Given the description of an element on the screen output the (x, y) to click on. 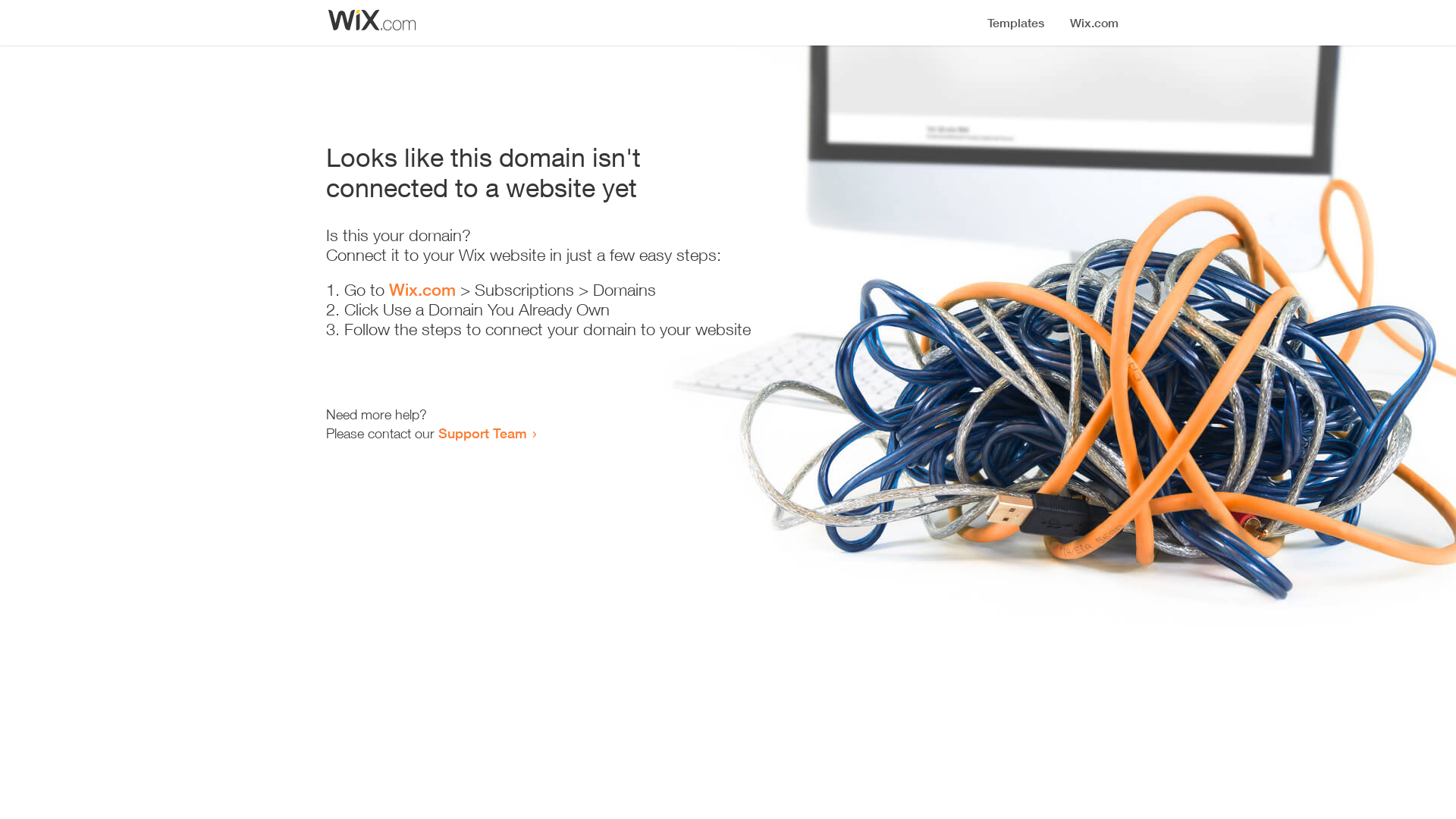
Support Team Element type: text (482, 432)
Wix.com Element type: text (422, 289)
